Given the description of an element on the screen output the (x, y) to click on. 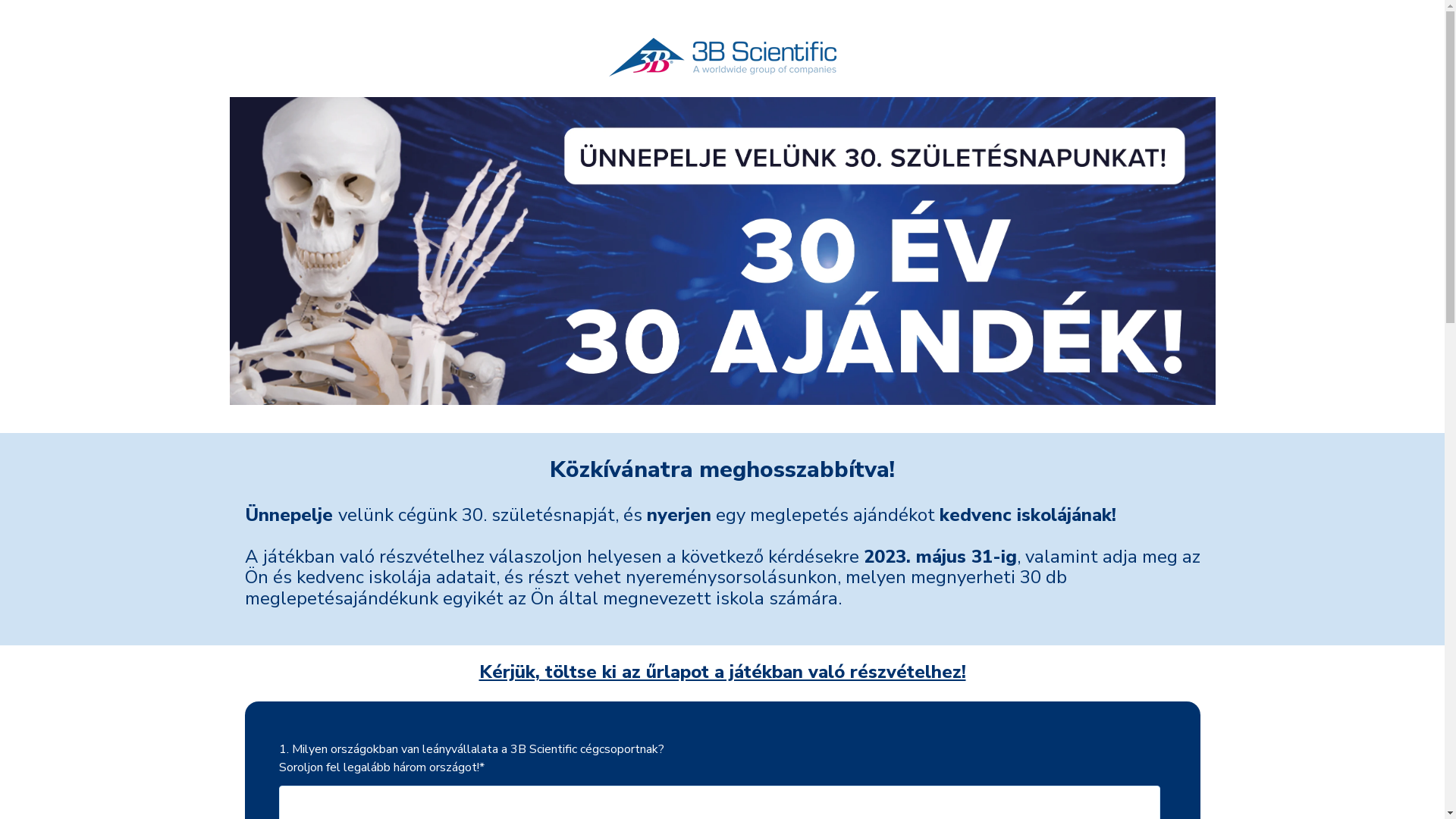
HU3B_fullsize_anim Element type: hover (721, 250)
Vector_1000-3B_company_logo_subline_4c Element type: hover (721, 56)
